Given the description of an element on the screen output the (x, y) to click on. 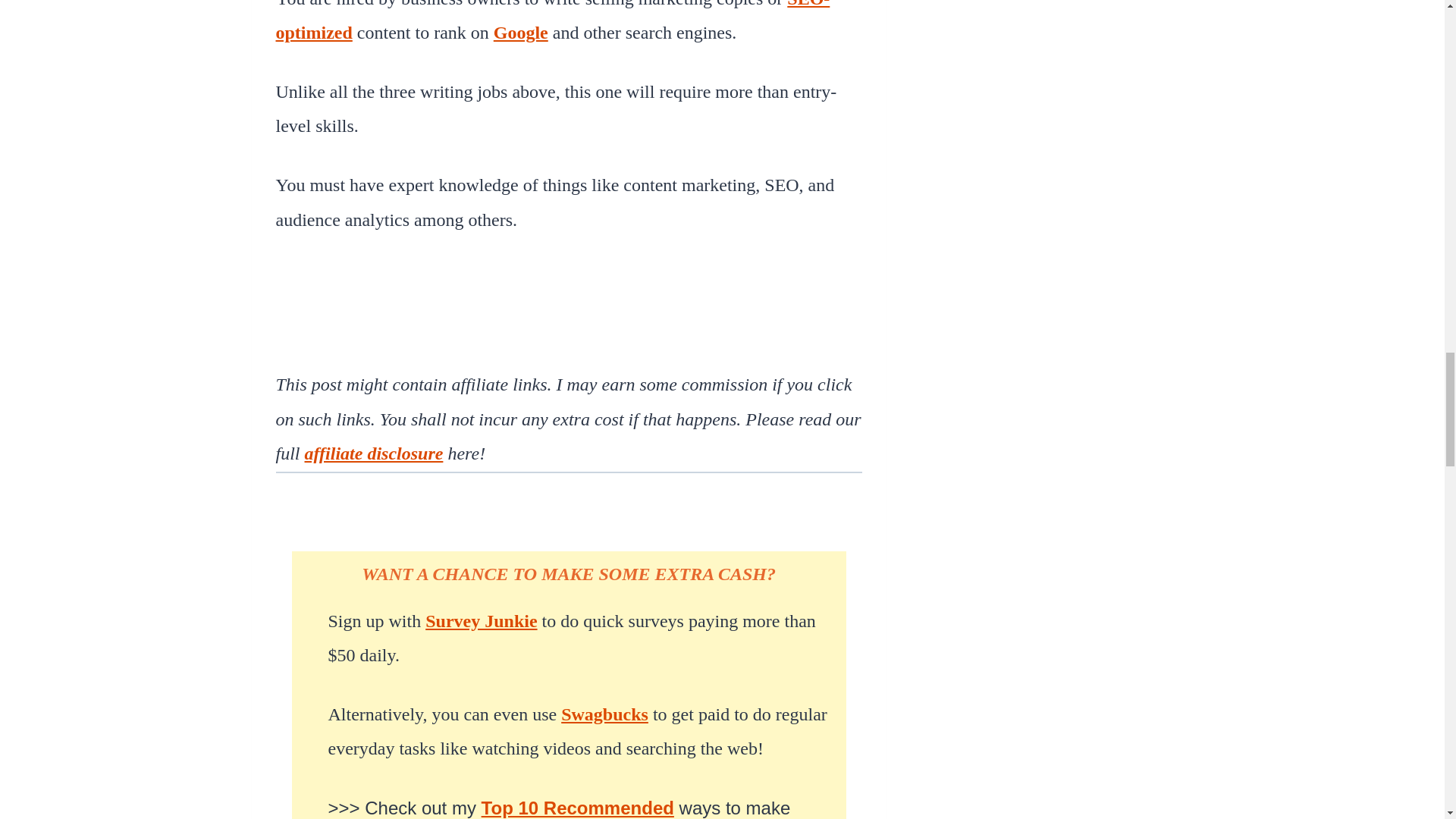
Google (520, 32)
Swagbucks (603, 713)
affiliate disclosure (374, 453)
Survey Junkie (481, 620)
Top 10 Recommended (577, 807)
SEO-optimized (552, 21)
